Given the description of an element on the screen output the (x, y) to click on. 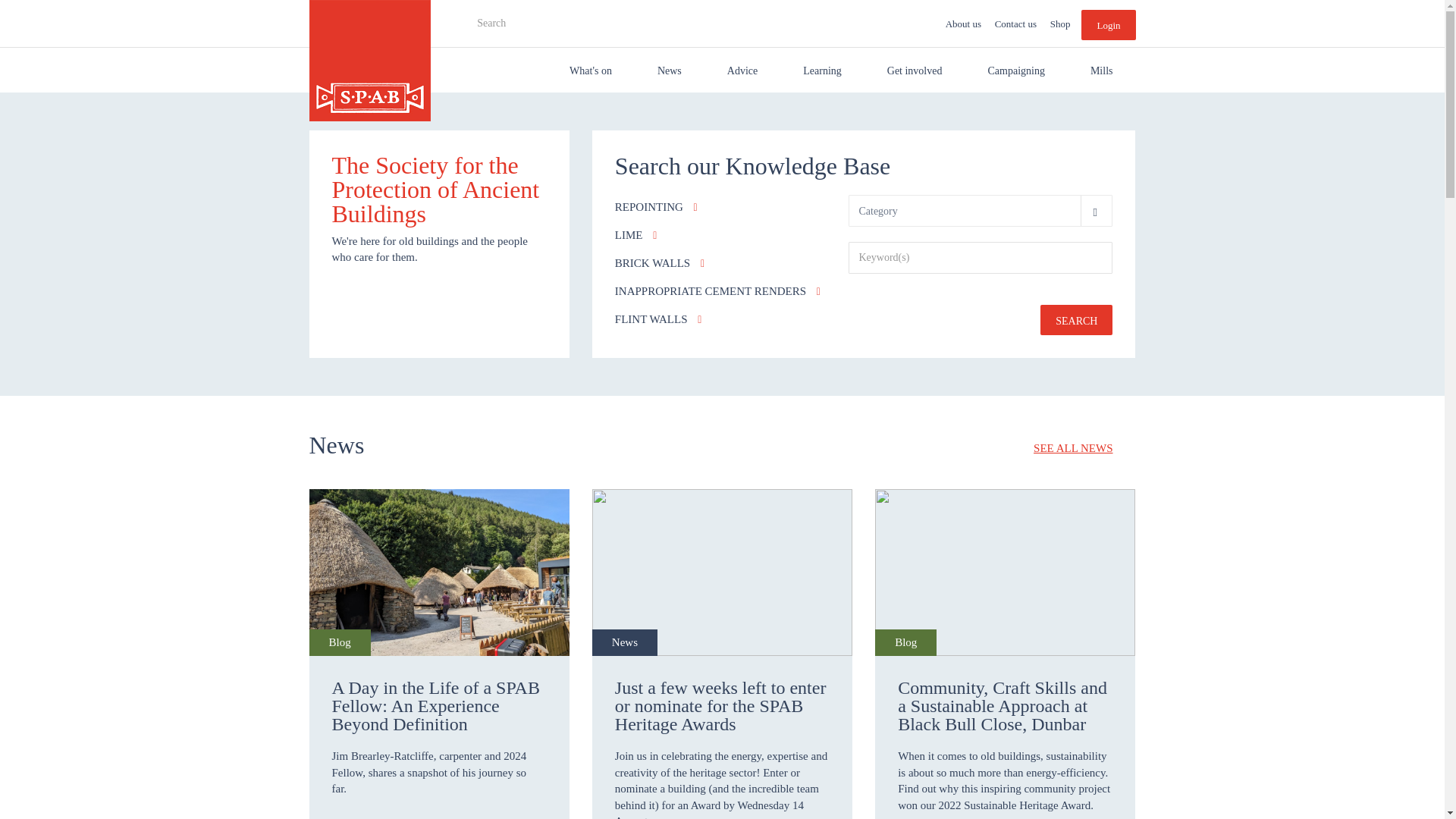
News (669, 69)
Get involved (914, 69)
What's on (590, 69)
SEARCH (476, 49)
About us (963, 24)
Contact us (1016, 24)
Advice (742, 69)
Enter the terms you wish to search for. (563, 21)
Mills (1101, 69)
